Given the description of an element on the screen output the (x, y) to click on. 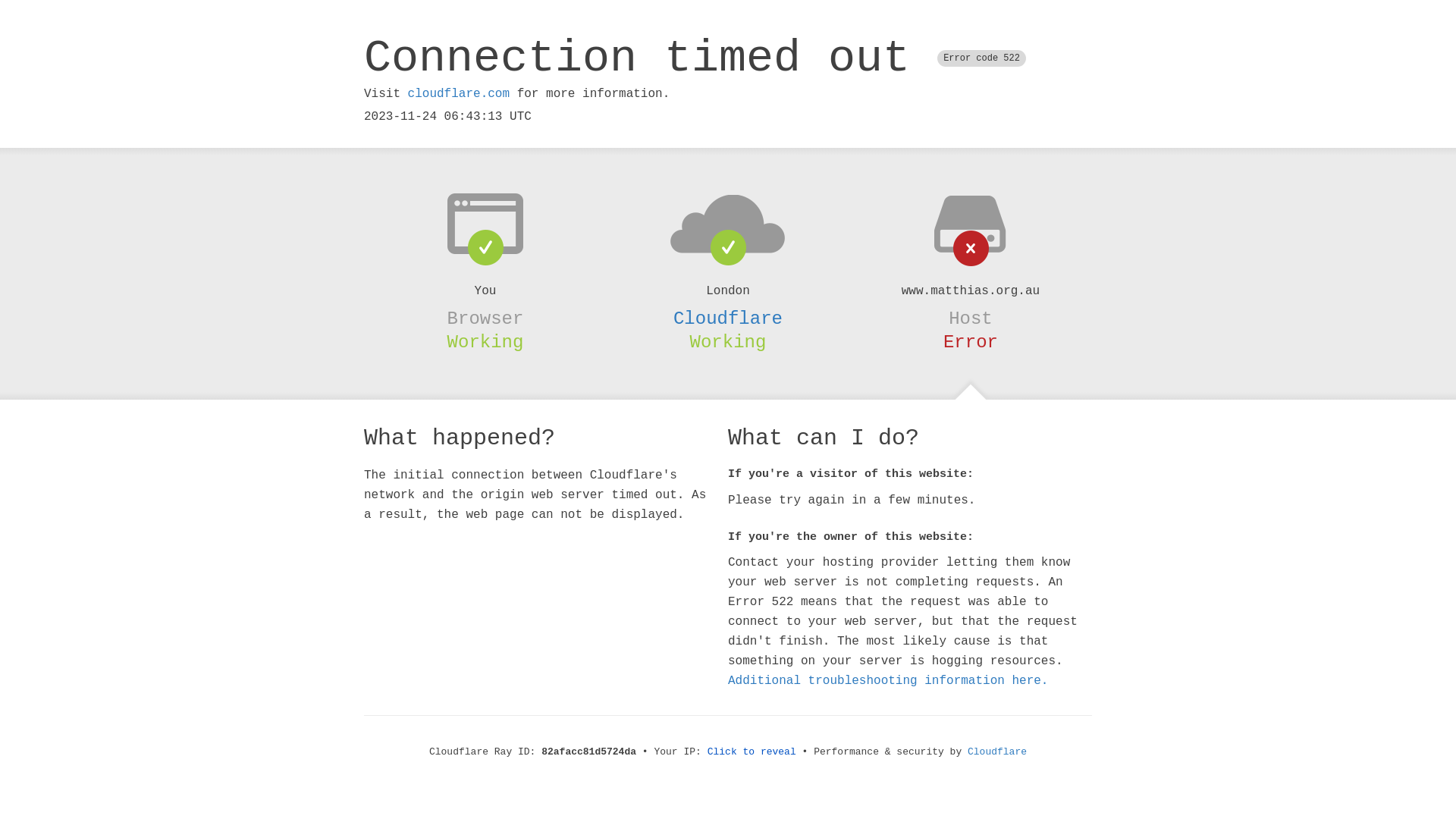
cloudflare.com Element type: text (458, 93)
Cloudflare Element type: text (996, 751)
Click to reveal Element type: text (751, 751)
Additional troubleshooting information here. Element type: text (888, 680)
Cloudflare Element type: text (727, 318)
